Given the description of an element on the screen output the (x, y) to click on. 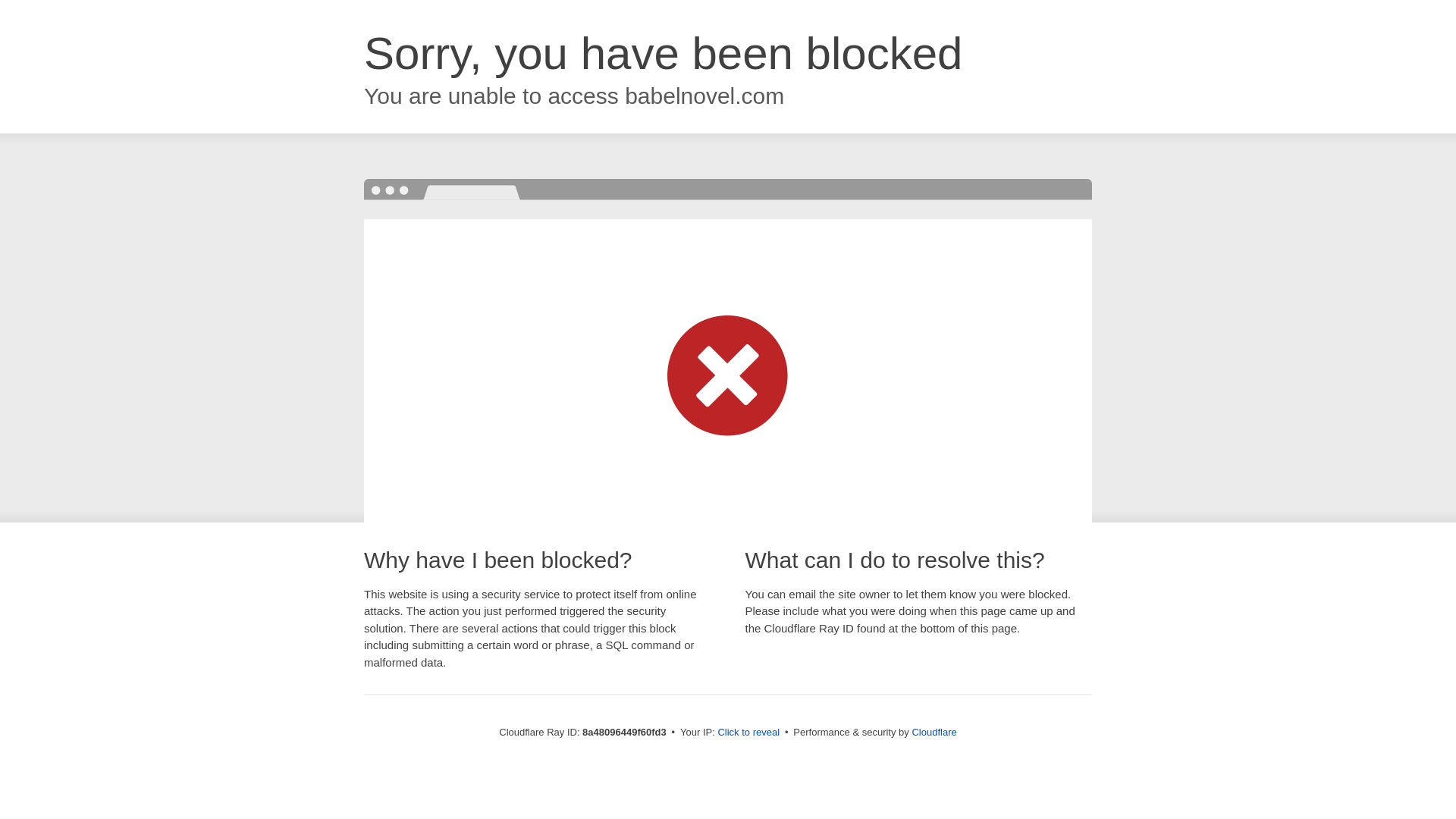
Cloudflare (933, 731)
Click to reveal (747, 732)
